Given the description of an element on the screen output the (x, y) to click on. 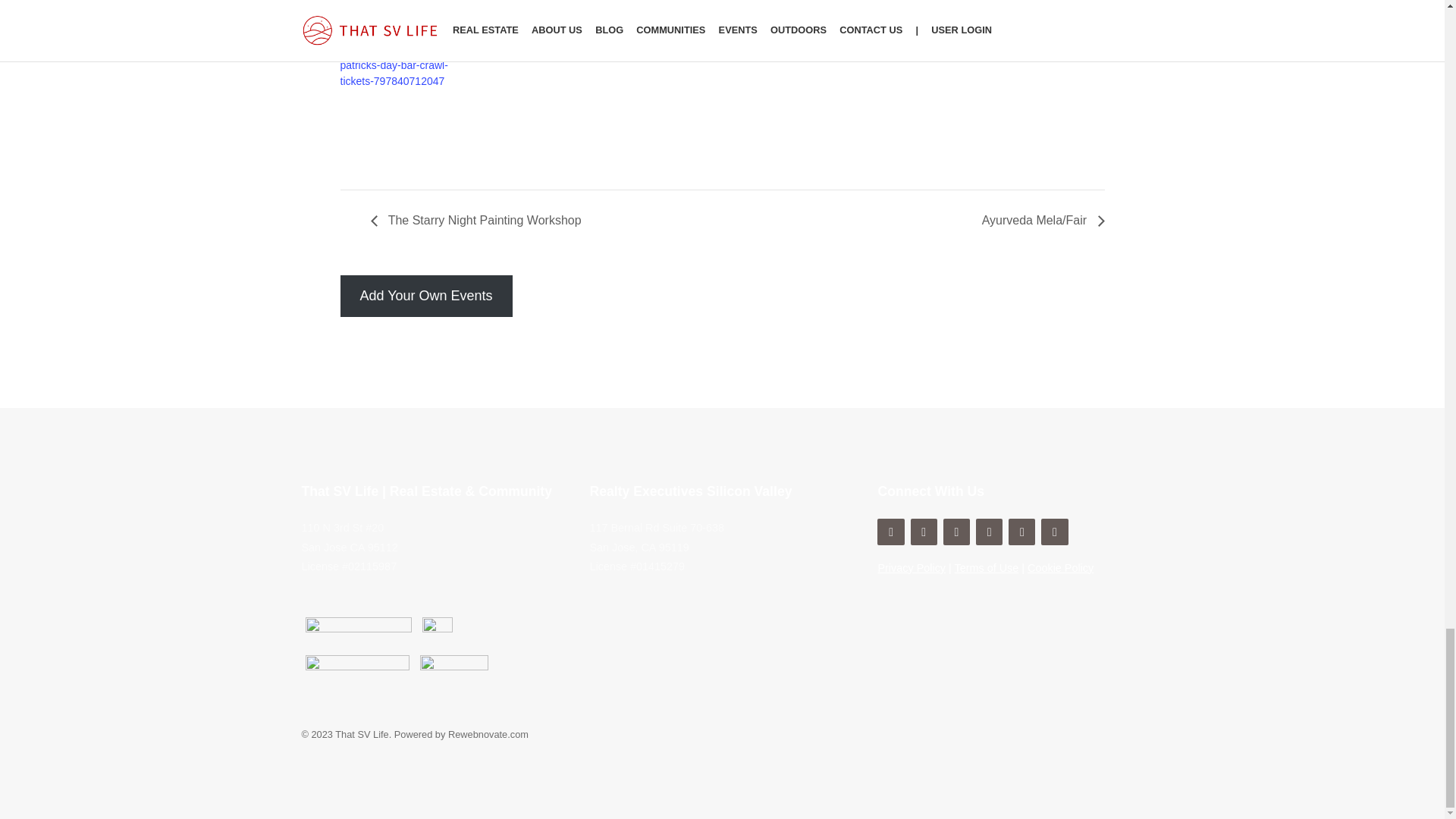
Instagram (956, 531)
Probate-Cert (436, 632)
Facebook (924, 531)
Contact (890, 531)
SCCAOR-Cert (357, 632)
CAR-Cert (453, 670)
NAR-Cert (356, 670)
